Given the description of an element on the screen output the (x, y) to click on. 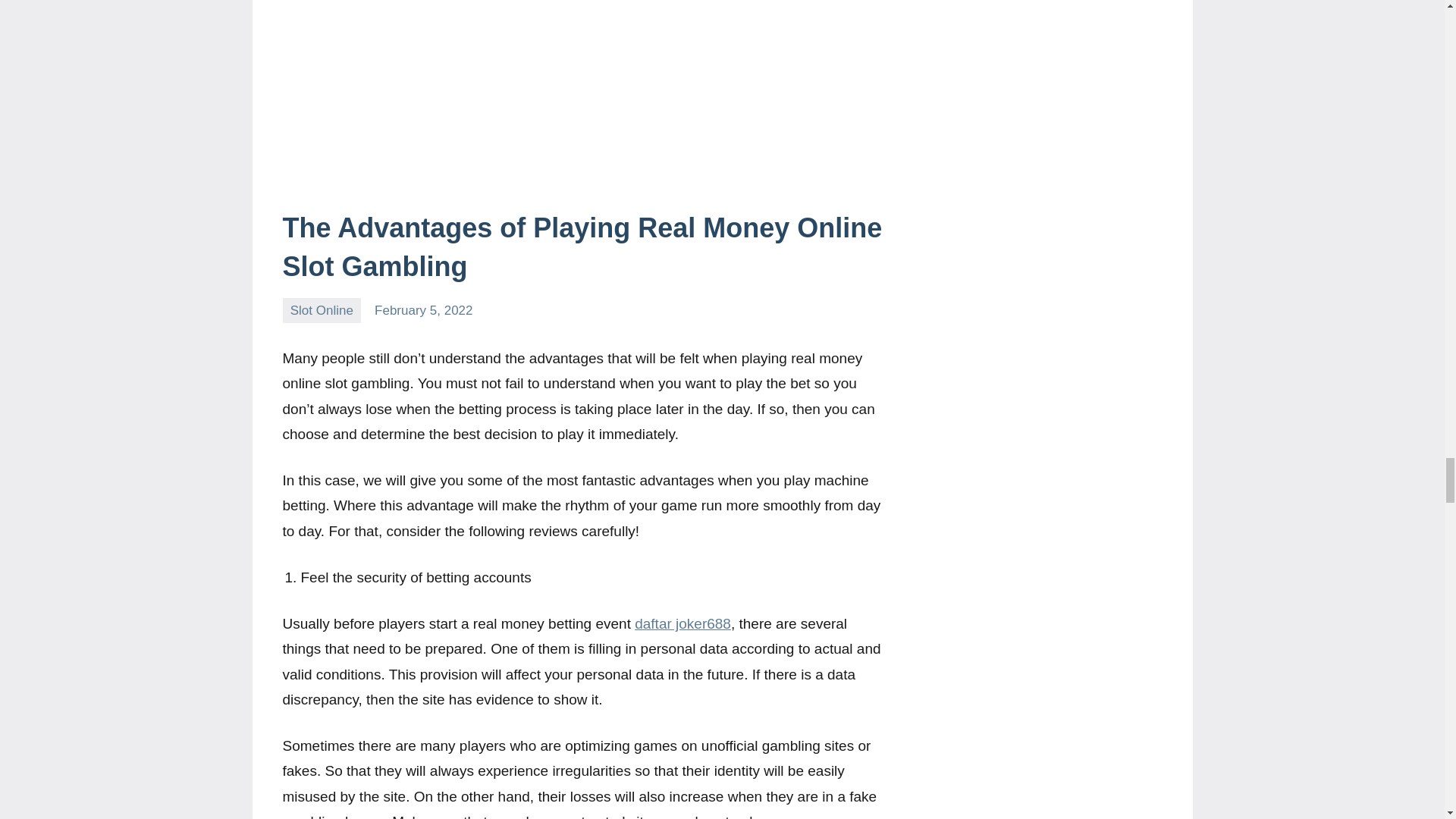
Slot Online (321, 310)
The Advantages of Playing Real Money Online Slot Gambling (582, 246)
